Given the description of an element on the screen output the (x, y) to click on. 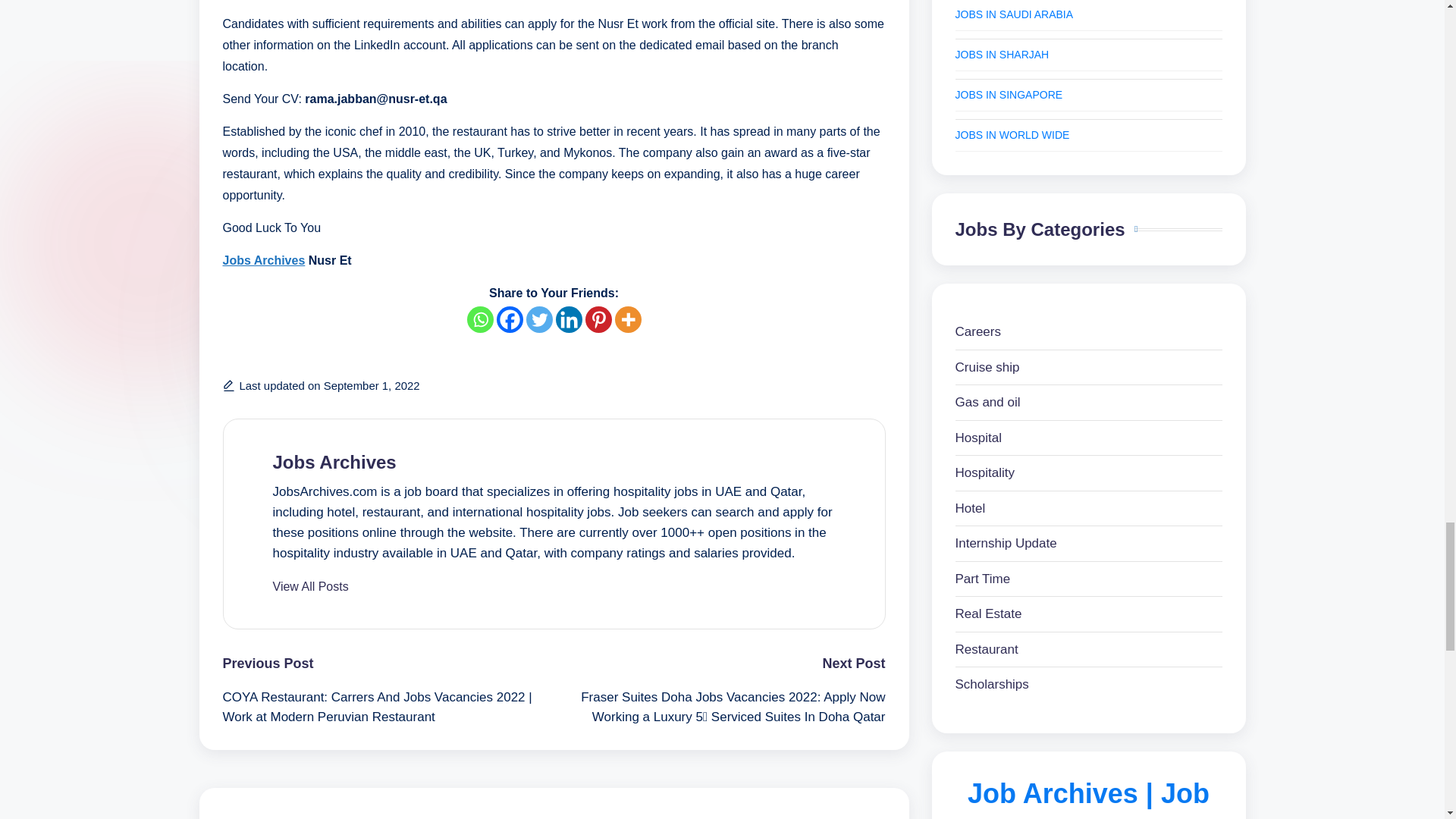
Jobs Archives (263, 259)
Whatsapp (480, 319)
Twitter (539, 319)
More (627, 319)
Facebook (509, 319)
Linkedin (567, 319)
Pinterest (598, 319)
